Given the description of an element on the screen output the (x, y) to click on. 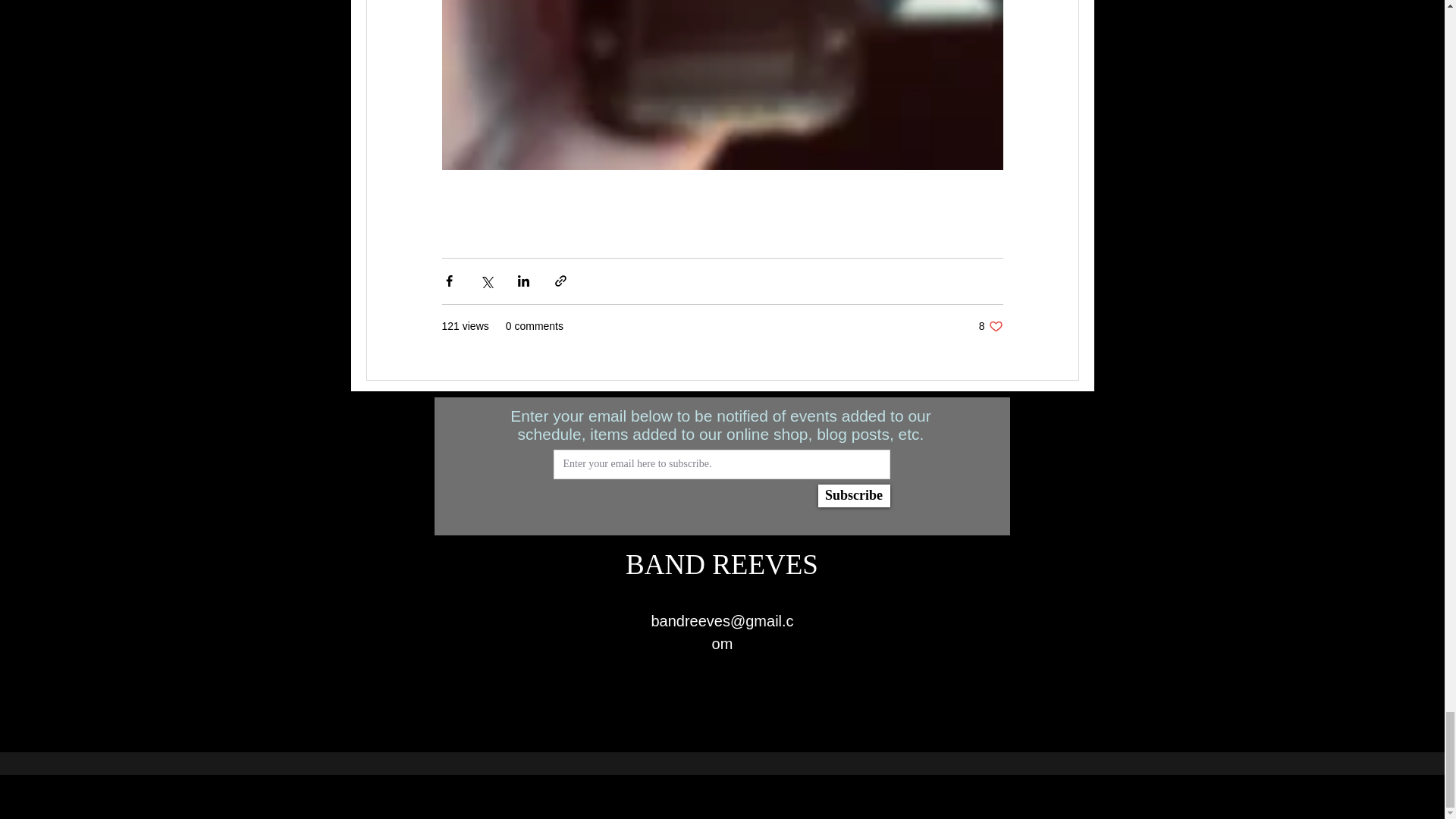
0 comments (534, 326)
Subscribe (852, 495)
BAND REEVES (990, 326)
